Given the description of an element on the screen output the (x, y) to click on. 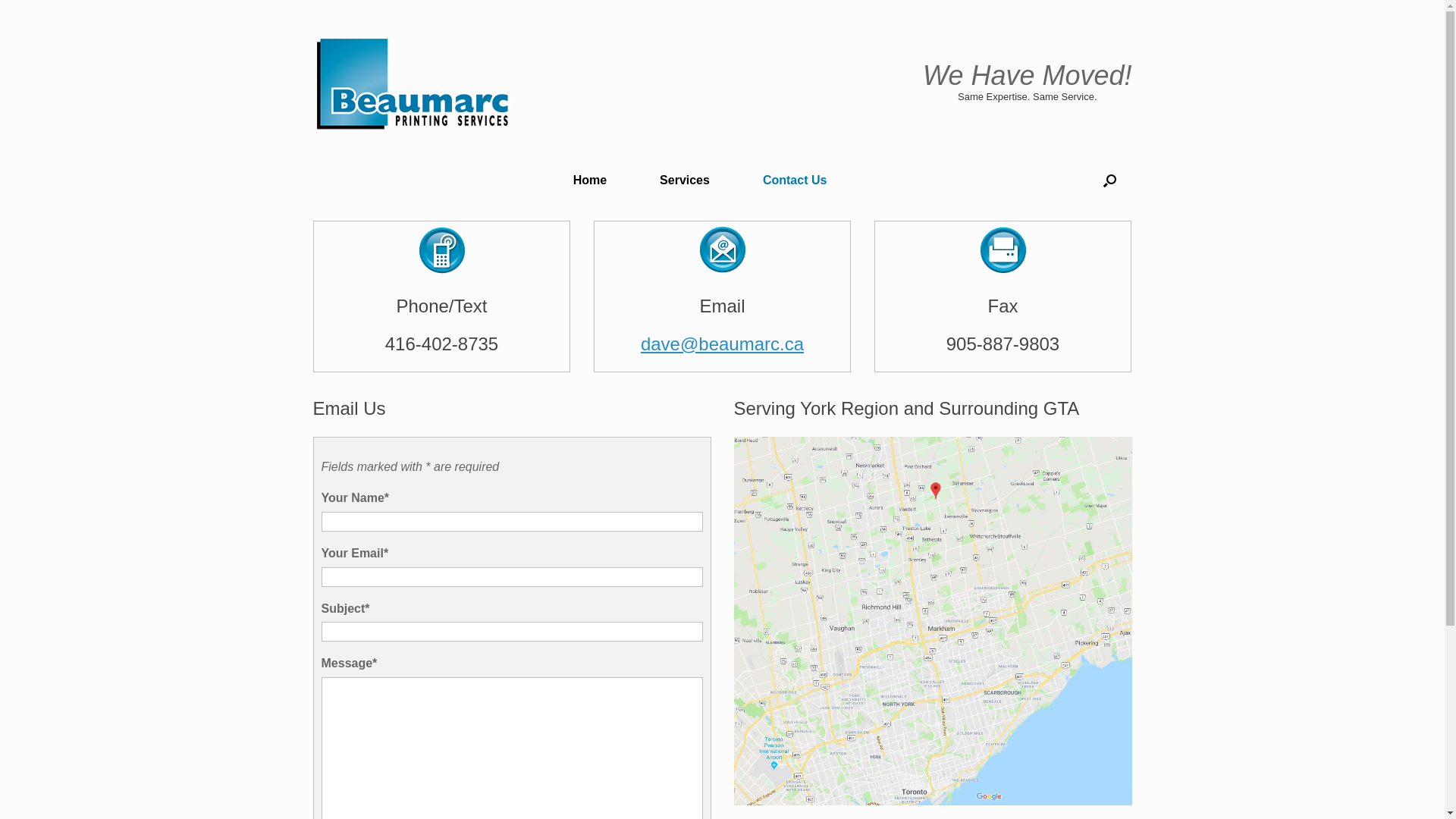
Contact Us Element type: text (794, 180)
dave@beaumarc.ca Element type: text (721, 343)
Services Element type: text (684, 180)
Beaumarc Element type: hover (413, 83)
Home Element type: text (589, 180)
